Given the description of an element on the screen output the (x, y) to click on. 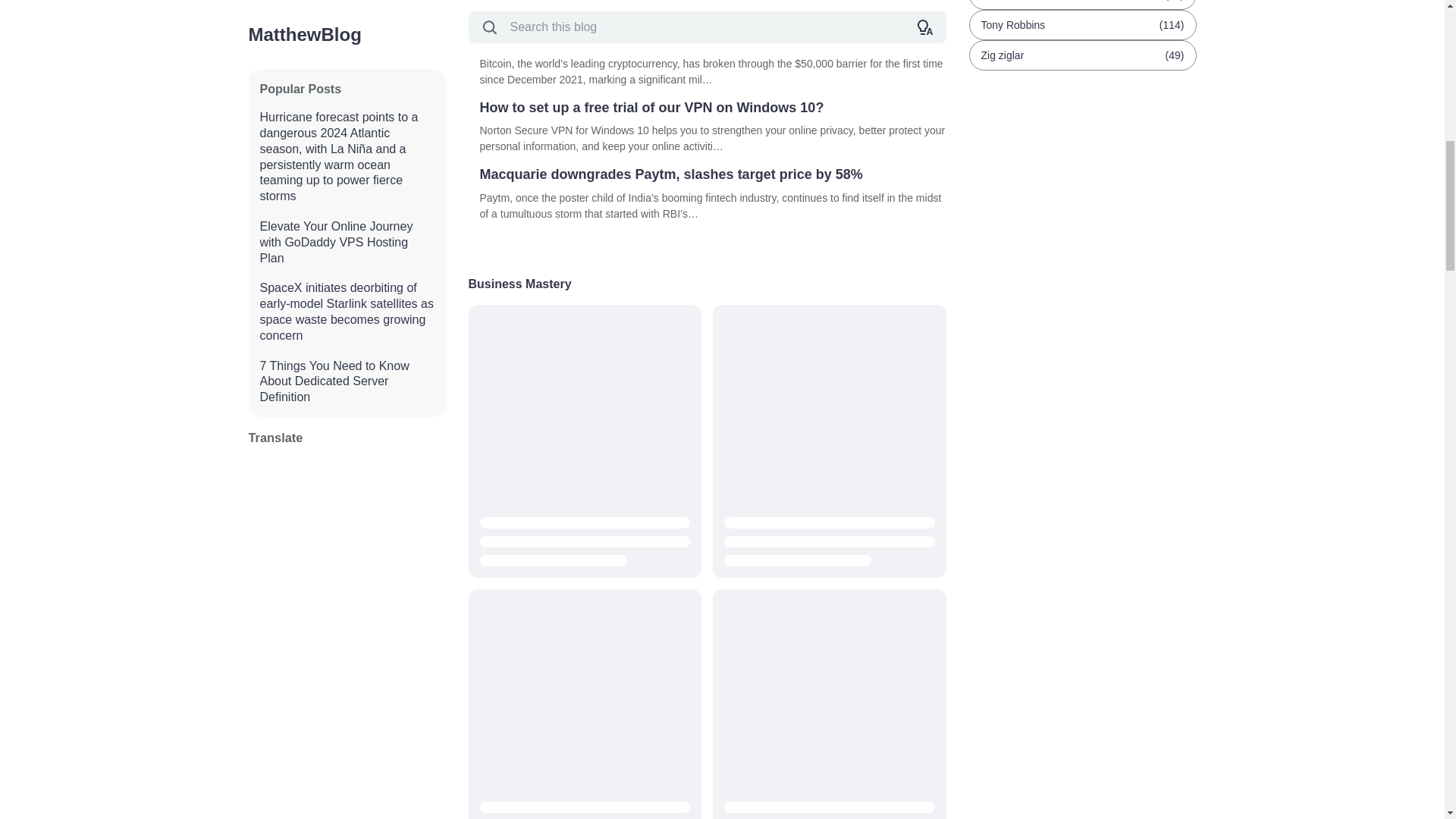
How to set up a free trial of our VPN on Windows 10? (711, 108)
Scroll to Top (1414, 27)
